Given the description of an element on the screen output the (x, y) to click on. 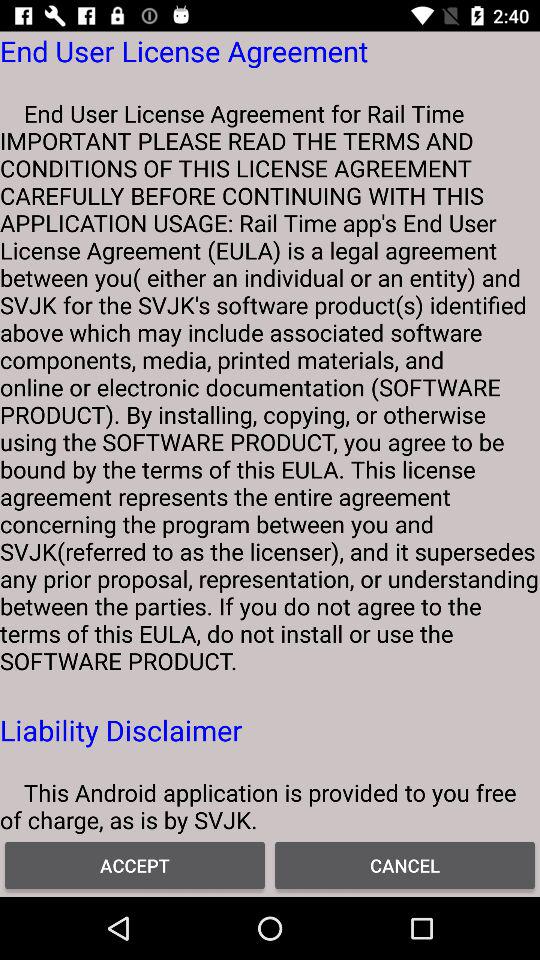
swipe until the accept item (135, 864)
